Given the description of an element on the screen output the (x, y) to click on. 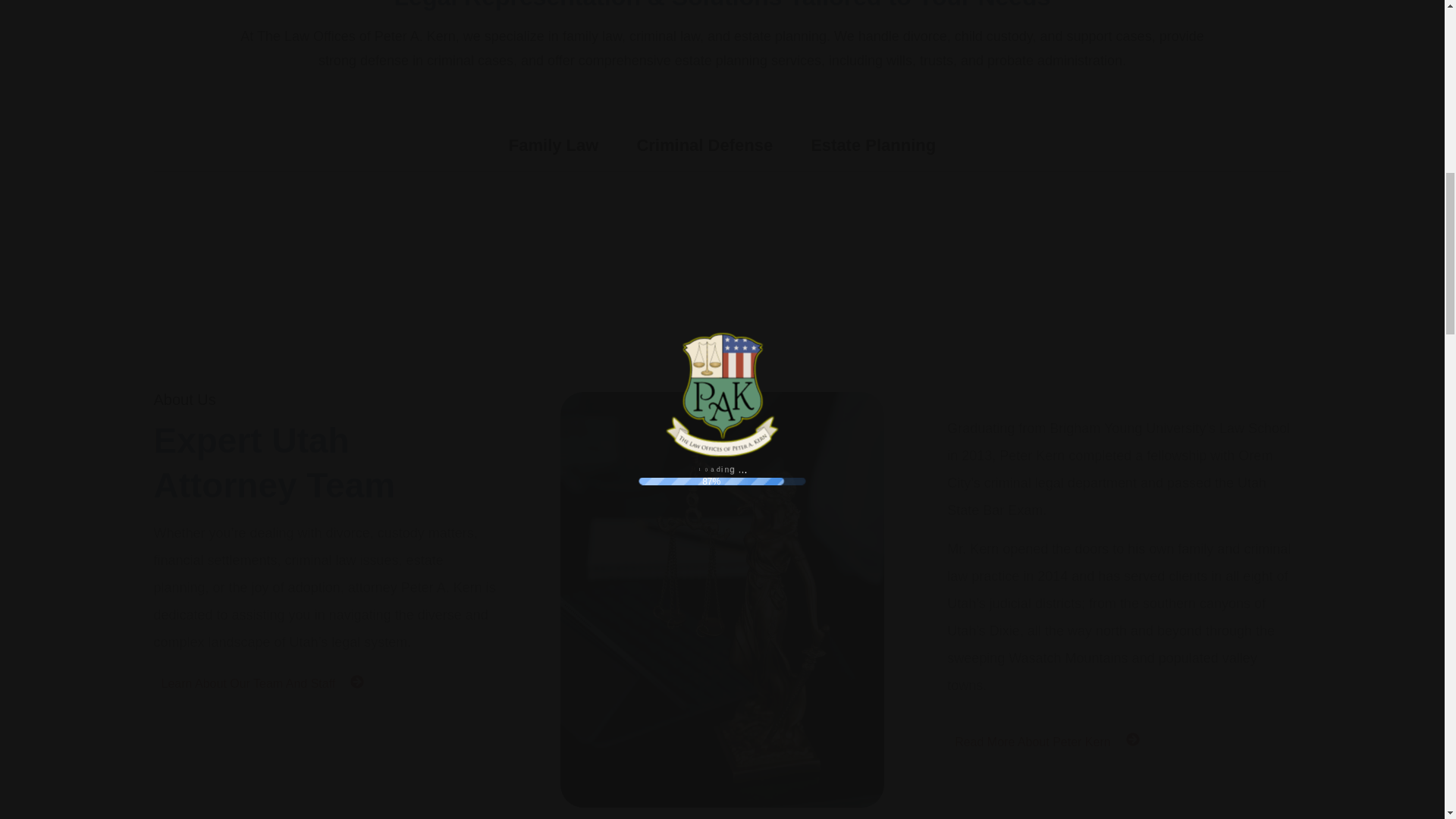
Learn About Our Team And Staff (247, 683)
Read More About Peter Kern (1032, 741)
